Given the description of an element on the screen output the (x, y) to click on. 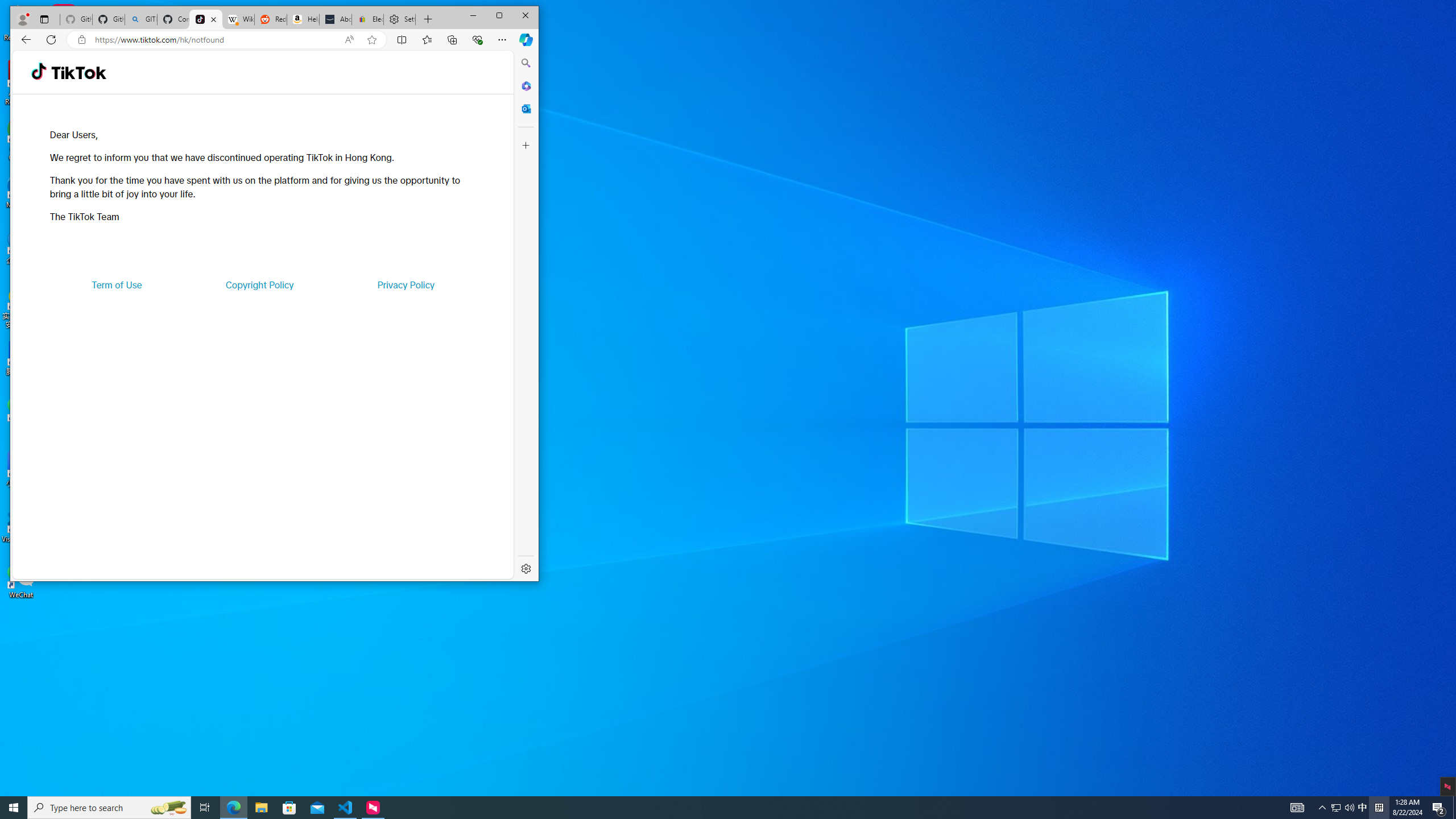
Action Center, 2 new notifications (1439, 807)
Visual Studio Code - 1 running window (345, 807)
Wikipedia, the free encyclopedia (237, 19)
Search highlights icon opens search home window (167, 807)
Term of Use (116, 284)
Microsoft Edge - 1 running window (233, 807)
